Given the description of an element on the screen output the (x, y) to click on. 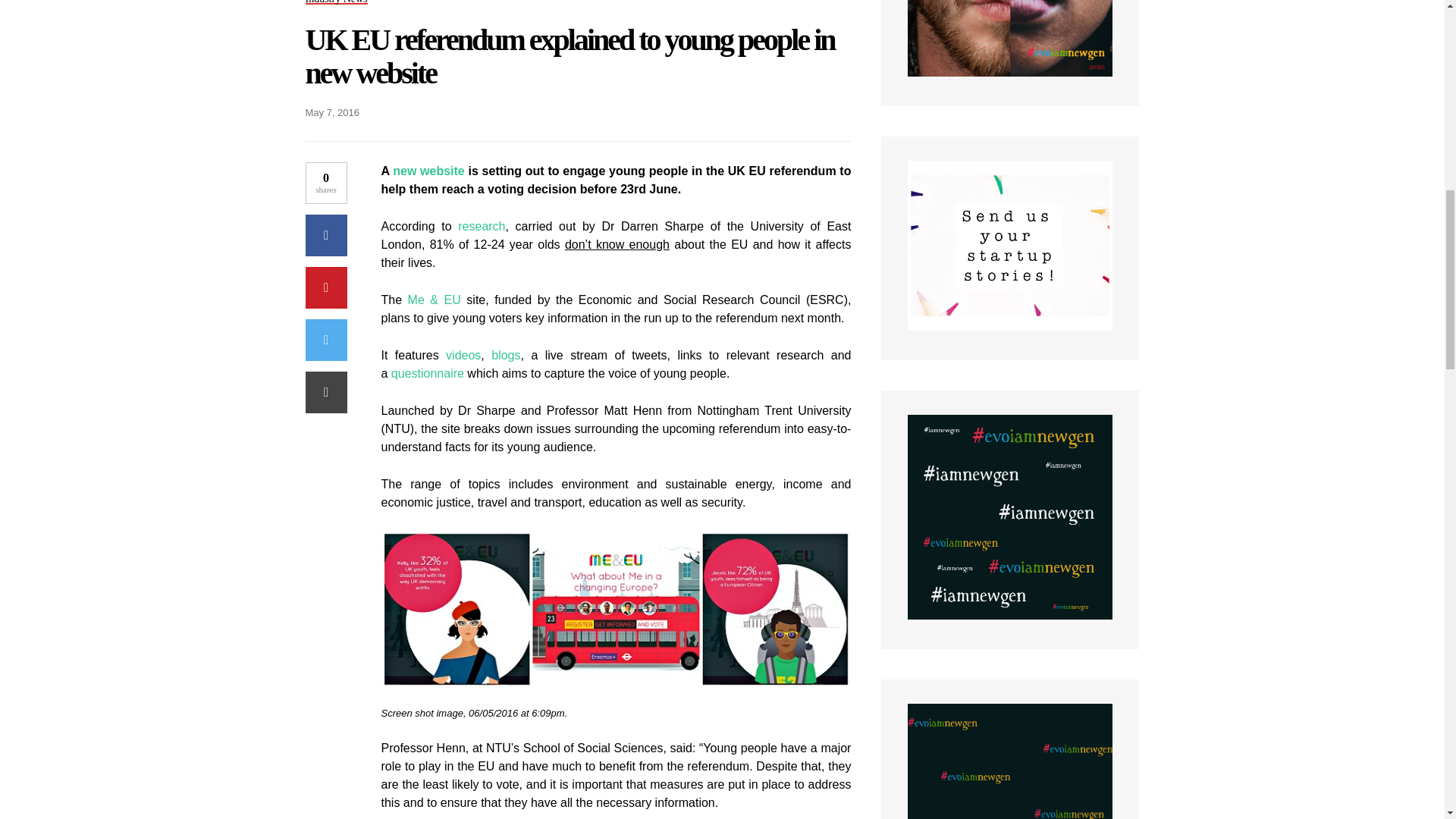
questionnaire (427, 373)
new website (428, 170)
blogs (505, 354)
research (481, 226)
Industry News (335, 2)
videos (462, 354)
View all posts in Industry News (335, 2)
